Given the description of an element on the screen output the (x, y) to click on. 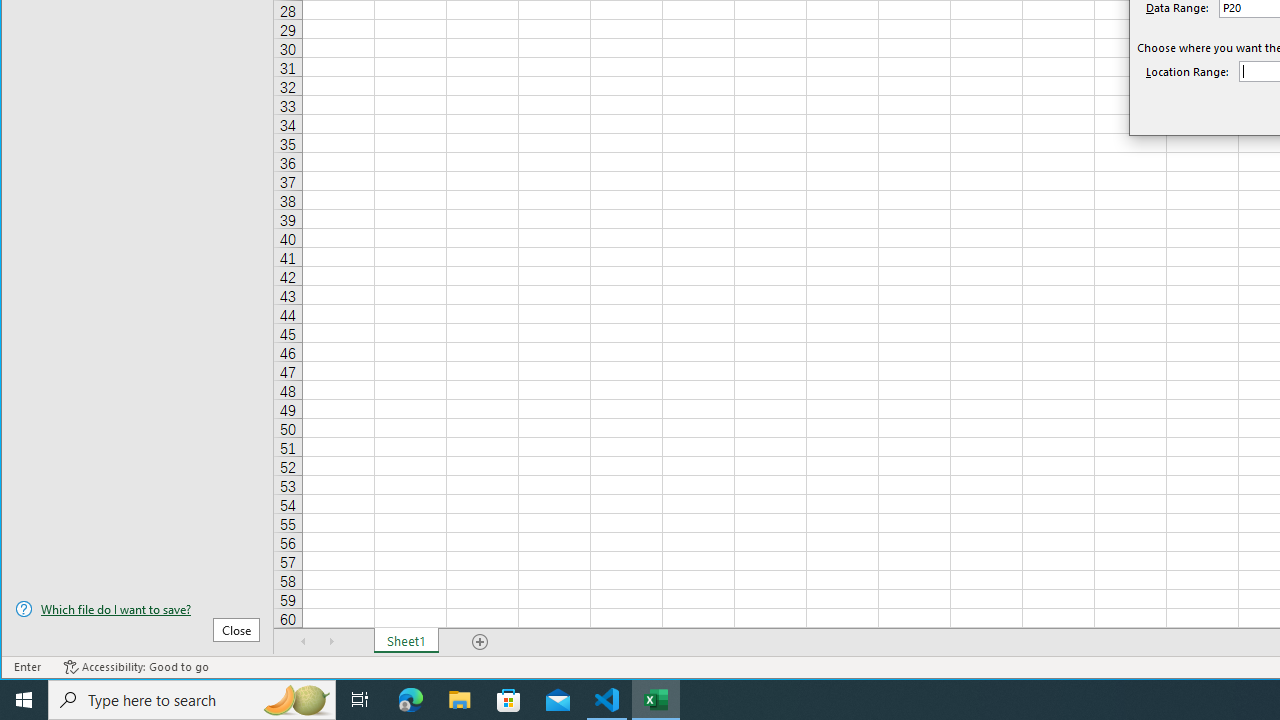
Which file do I want to save? (137, 609)
Scroll Left (303, 641)
Start (24, 699)
Sheet1 (406, 641)
Microsoft Store (509, 699)
Scroll Right (331, 641)
Search highlights icon opens search home window (295, 699)
Microsoft Edge (411, 699)
Visual Studio Code - 1 running window (607, 699)
Excel - 1 running window (656, 699)
Type here to search (191, 699)
Task View (359, 699)
Accessibility Checker Accessibility: Good to go (136, 667)
